Given the description of an element on the screen output the (x, y) to click on. 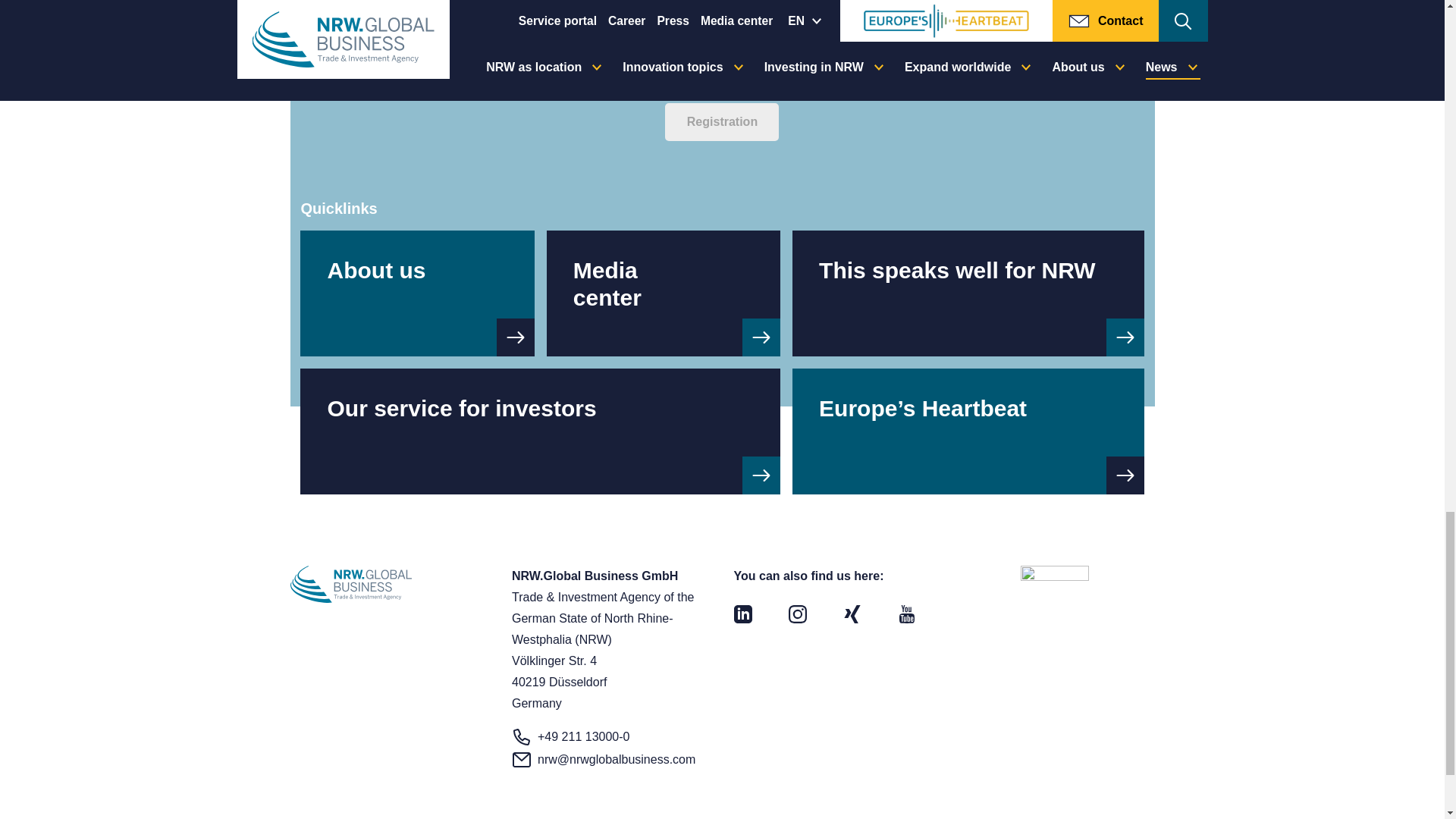
Instagram (797, 613)
Xing (852, 613)
LinkedIn (742, 613)
YouTube (906, 613)
